Given the description of an element on the screen output the (x, y) to click on. 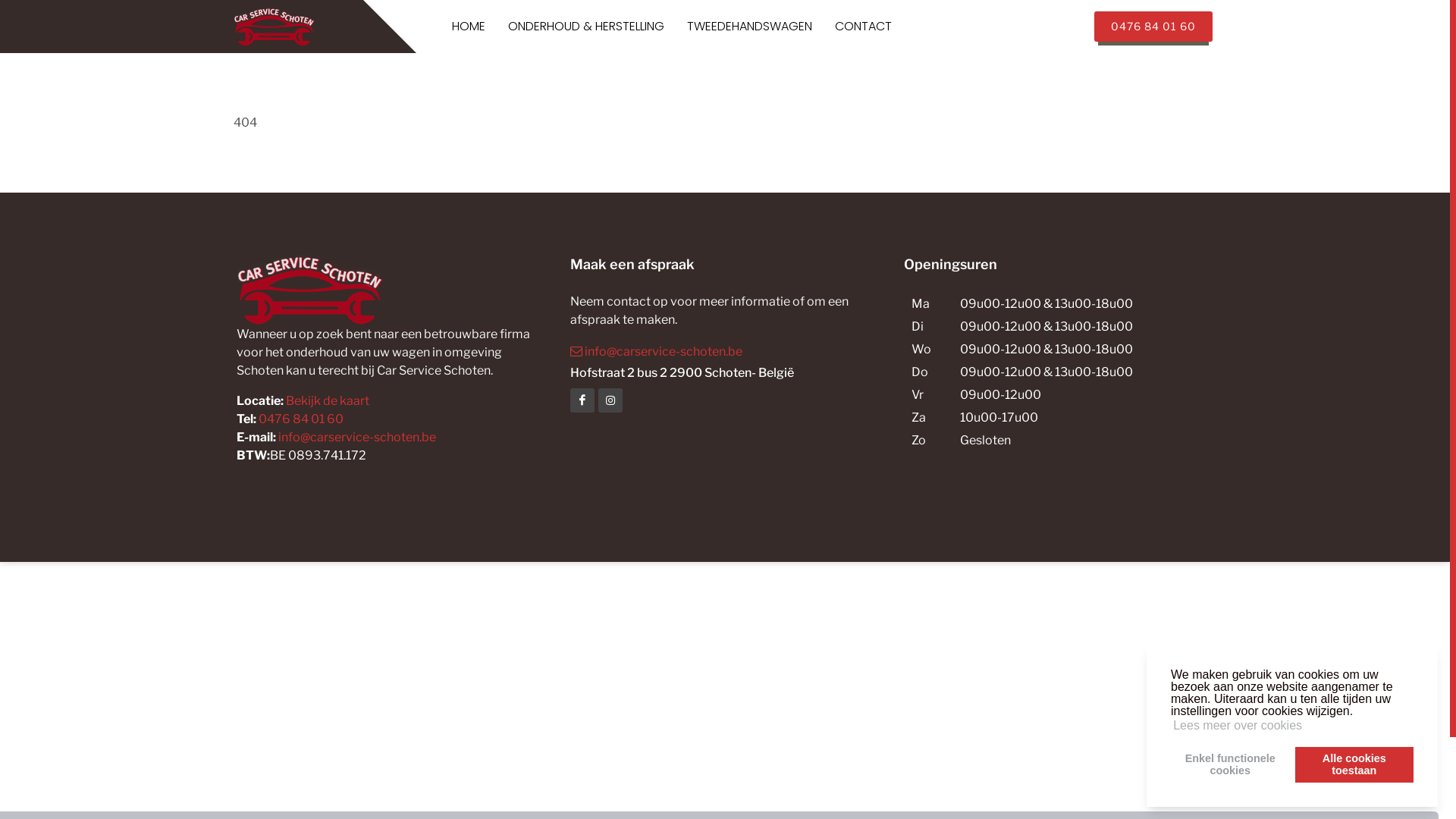
0476 84 01 60 Element type: text (1153, 26)
0476 84 01 60 Element type: text (300, 418)
Facebook Element type: hover (610, 400)
HOME Element type: text (468, 26)
info@carservice-schoten.be Element type: text (724, 350)
TWEEDEHANDSWAGEN Element type: text (749, 26)
Enkel functionele
cookies Element type: text (1229, 764)
Alle cookies
toestaan Element type: text (1354, 764)
Facebook Element type: hover (582, 400)
ONDERHOUD & HERSTELLING Element type: text (585, 26)
Bekijk de kaart Element type: text (326, 400)
Lees meer over cookies Element type: text (1237, 725)
CONTACT Element type: text (863, 26)
info@carservice-schoten.be Element type: text (357, 436)
